Given the description of an element on the screen output the (x, y) to click on. 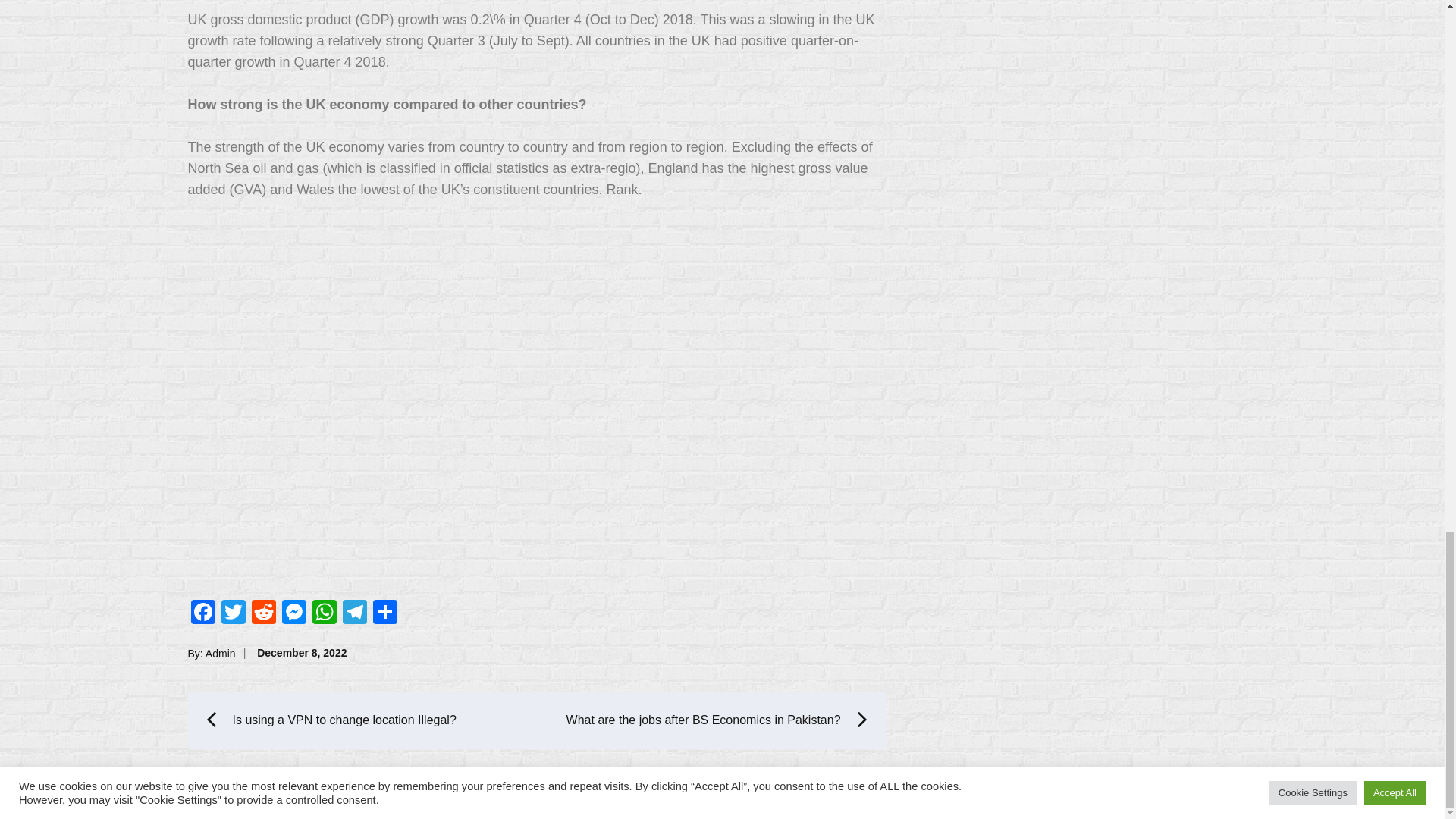
Reddit (263, 613)
Facebook (202, 613)
Share (384, 613)
Telegram (354, 613)
Telegram (354, 613)
December 8, 2022 (301, 653)
Reddit (263, 613)
Messenger (293, 613)
Facebook (202, 613)
WhatsApp (323, 613)
Twitter (233, 613)
Twitter (233, 613)
Admin (220, 653)
Messenger (293, 613)
